Given the description of an element on the screen output the (x, y) to click on. 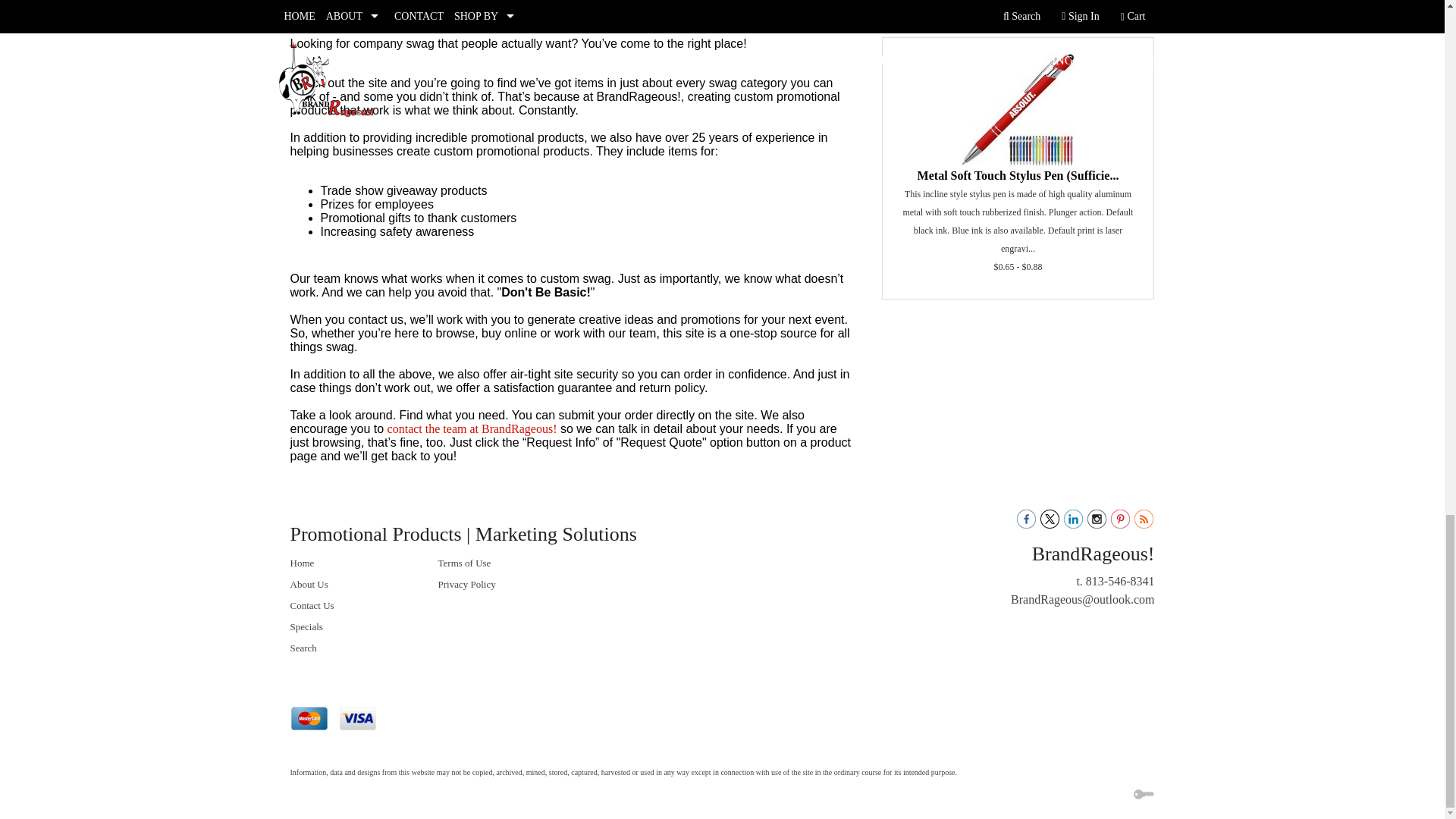
Visit us on Twitter (1050, 517)
Visit us on Instagram (1096, 517)
Visit us on LinkedIn (1073, 517)
Visit us on Facebook (1025, 517)
Visit our blog (1143, 517)
Visit us on Pinterest (1119, 517)
